Given the description of an element on the screen output the (x, y) to click on. 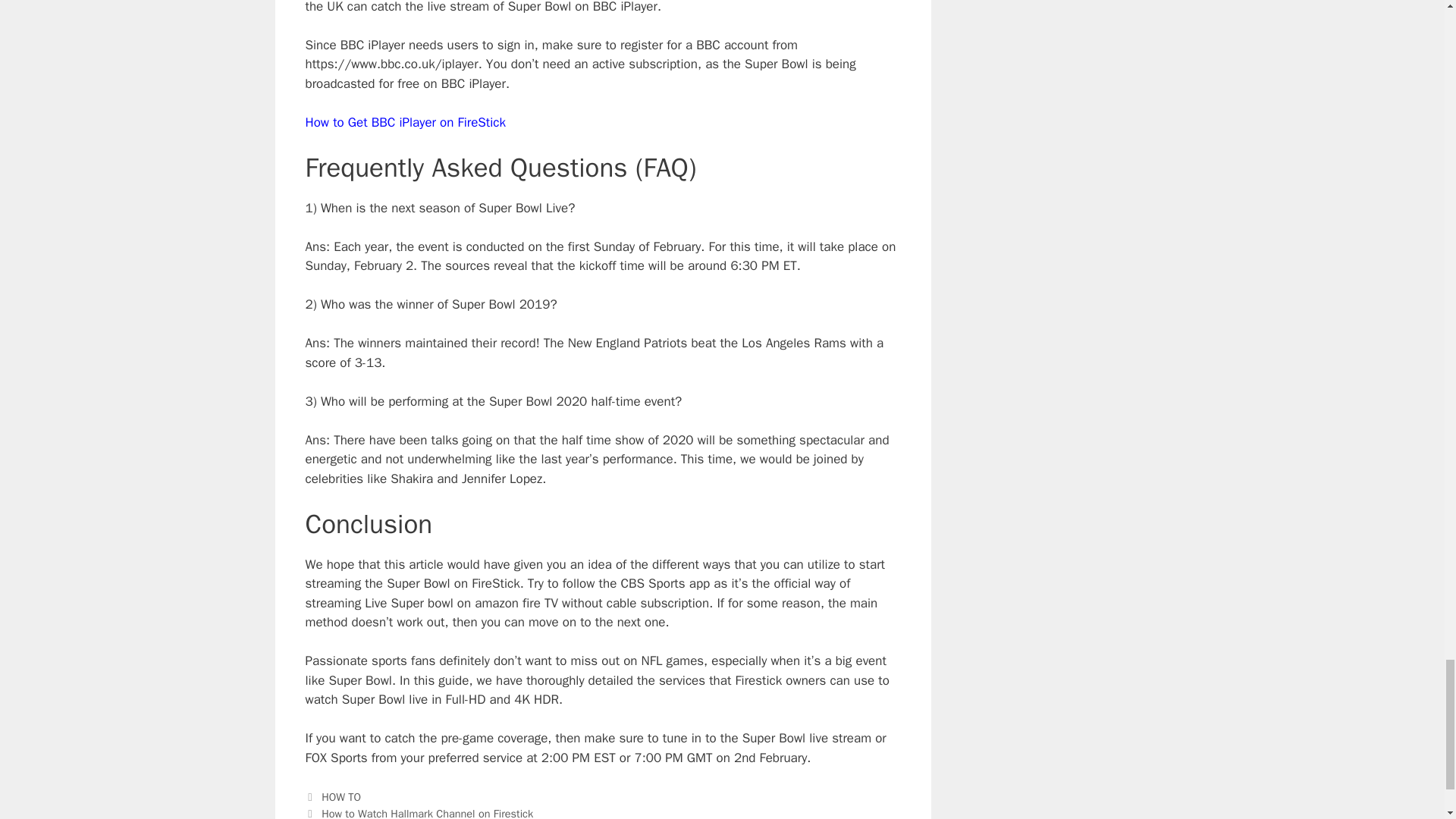
How to Watch Hallmark Channel on Firestick (426, 812)
How to Get BBC iPlayer on FireStick (404, 122)
HOW TO (341, 796)
